Given the description of an element on the screen output the (x, y) to click on. 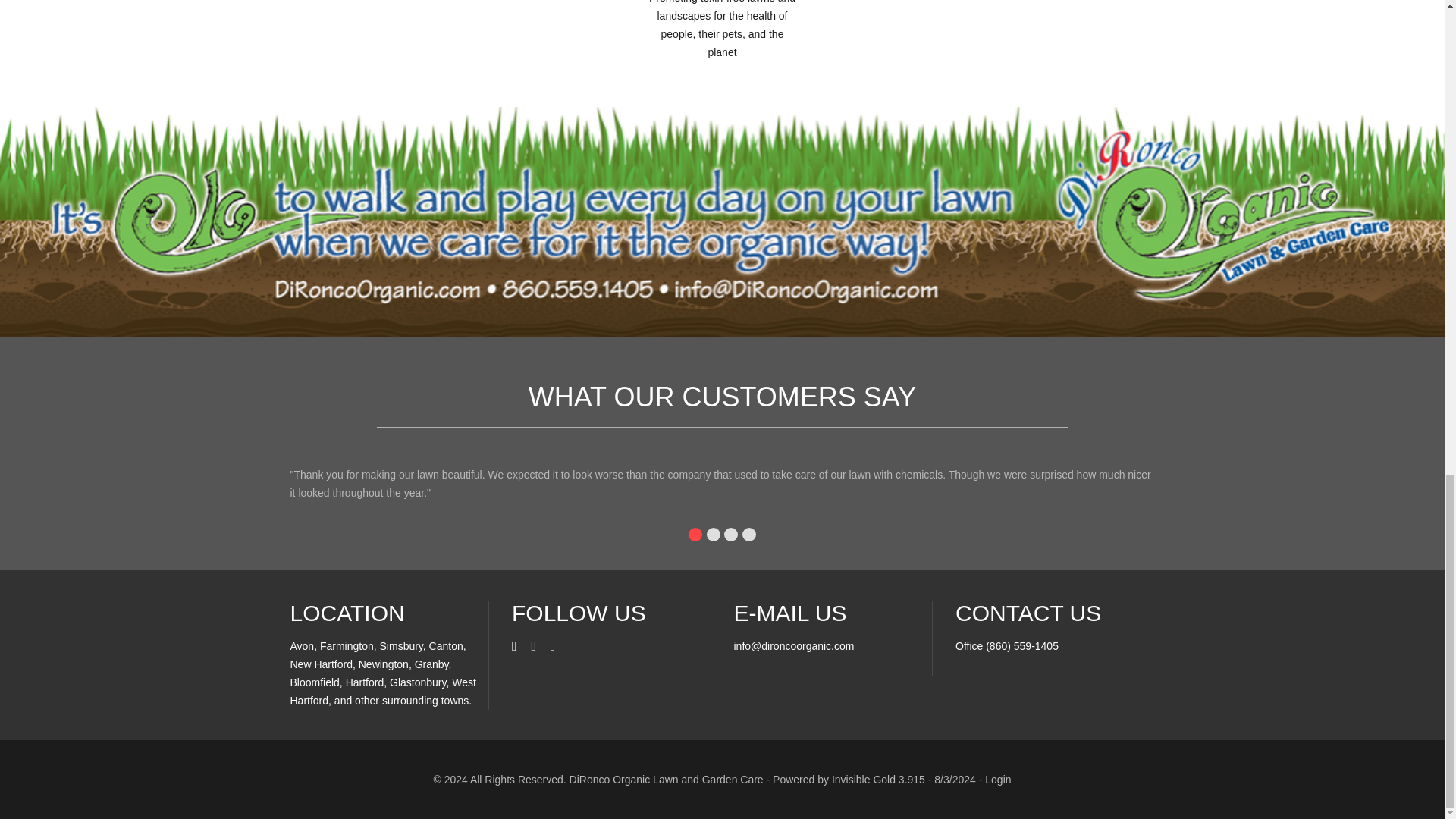
Invisible Gold 3.915 (879, 779)
Login (997, 779)
